Given the description of an element on the screen output the (x, y) to click on. 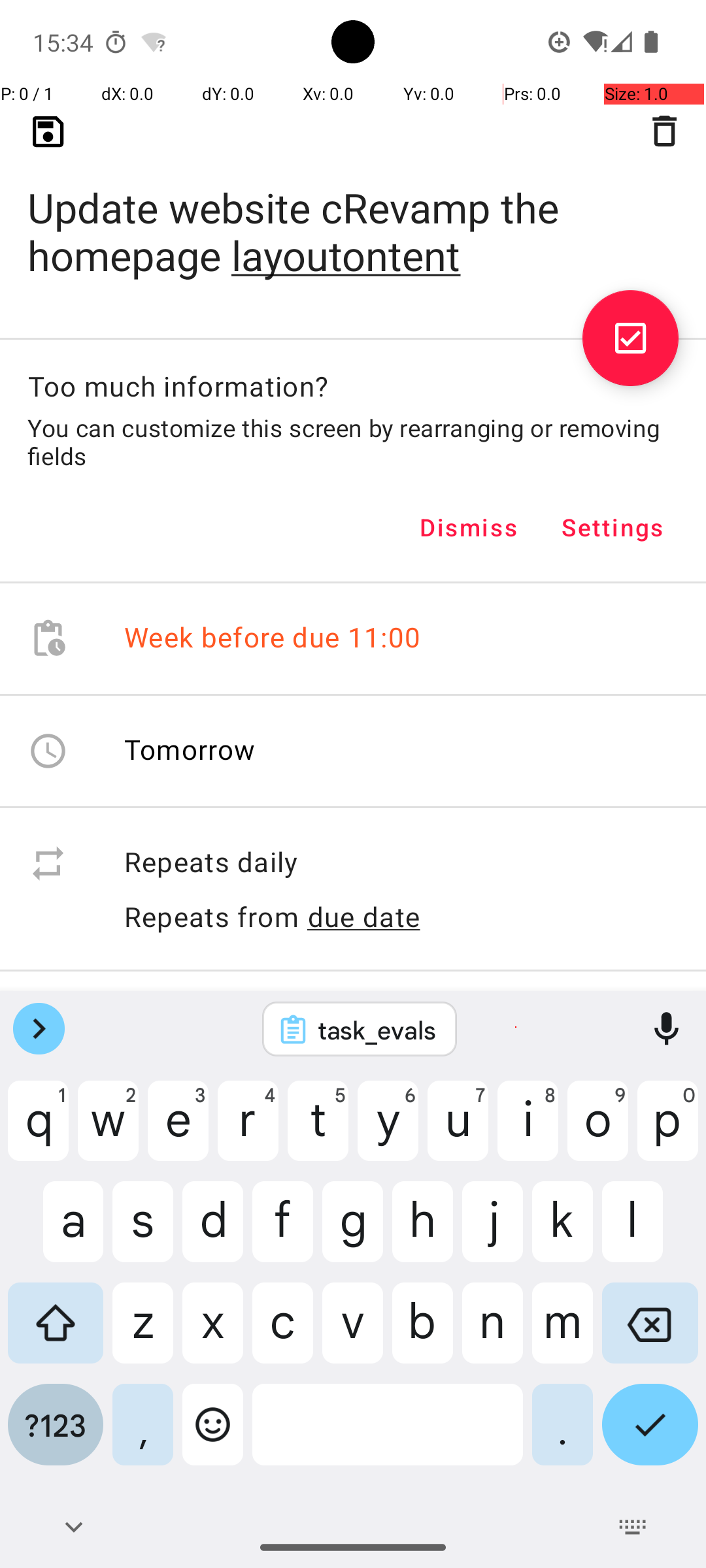
Update website cRevamp the homepage layoutontent Element type: android.widget.EditText (353, 210)
Week before due 11:00 Element type: android.widget.TextView (272, 638)
Repeats daily Element type: android.widget.TextView (400, 862)
